Given the description of an element on the screen output the (x, y) to click on. 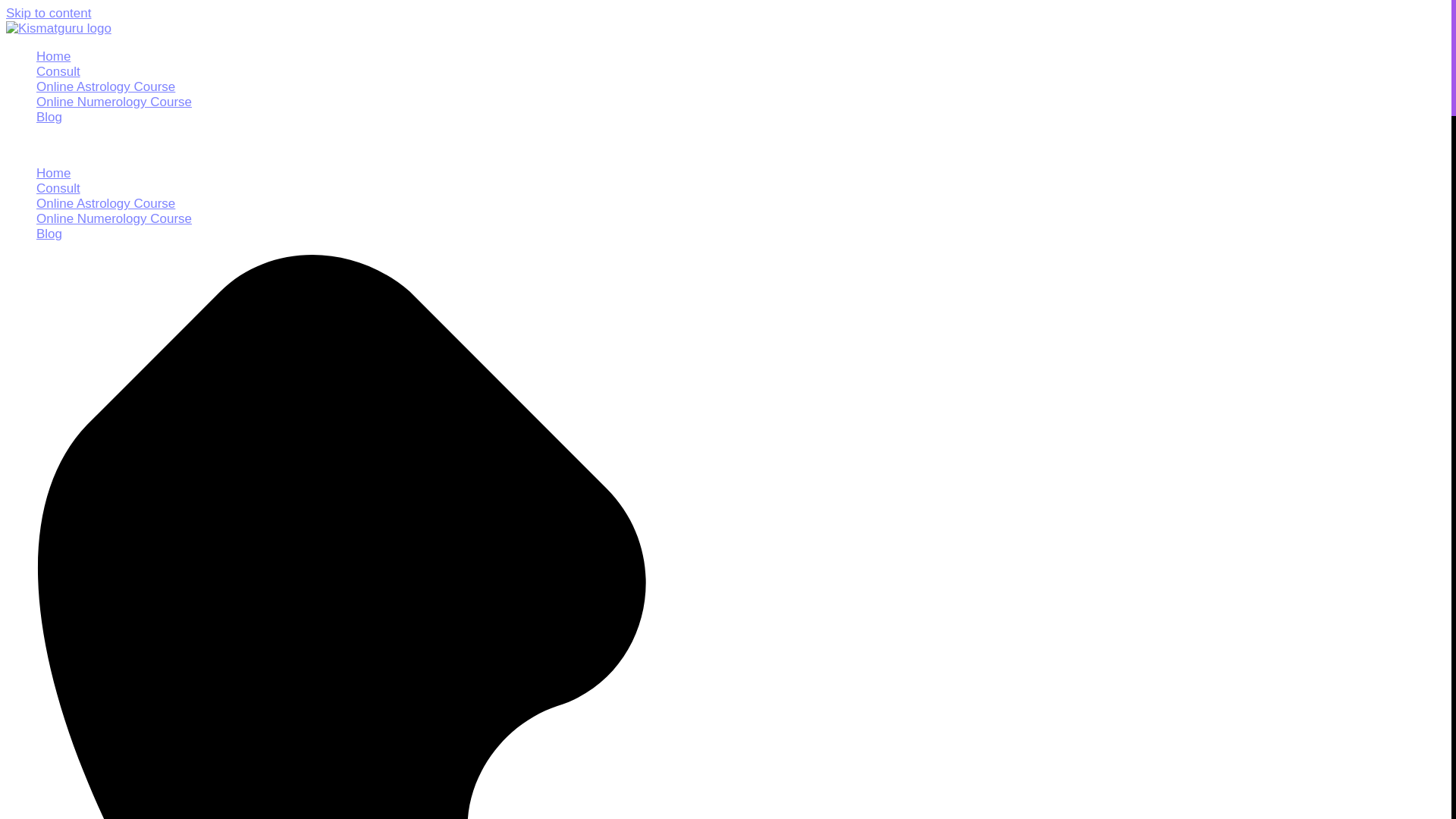
Consult (58, 71)
Blog (49, 233)
Blog (49, 116)
Home (52, 173)
Online Numerology Course (114, 101)
Consult (58, 187)
Home (52, 56)
Online Astrology Course (105, 203)
Online Numerology Course (114, 218)
Online Astrology Course (105, 86)
Skip to content (47, 12)
